Given the description of an element on the screen output the (x, y) to click on. 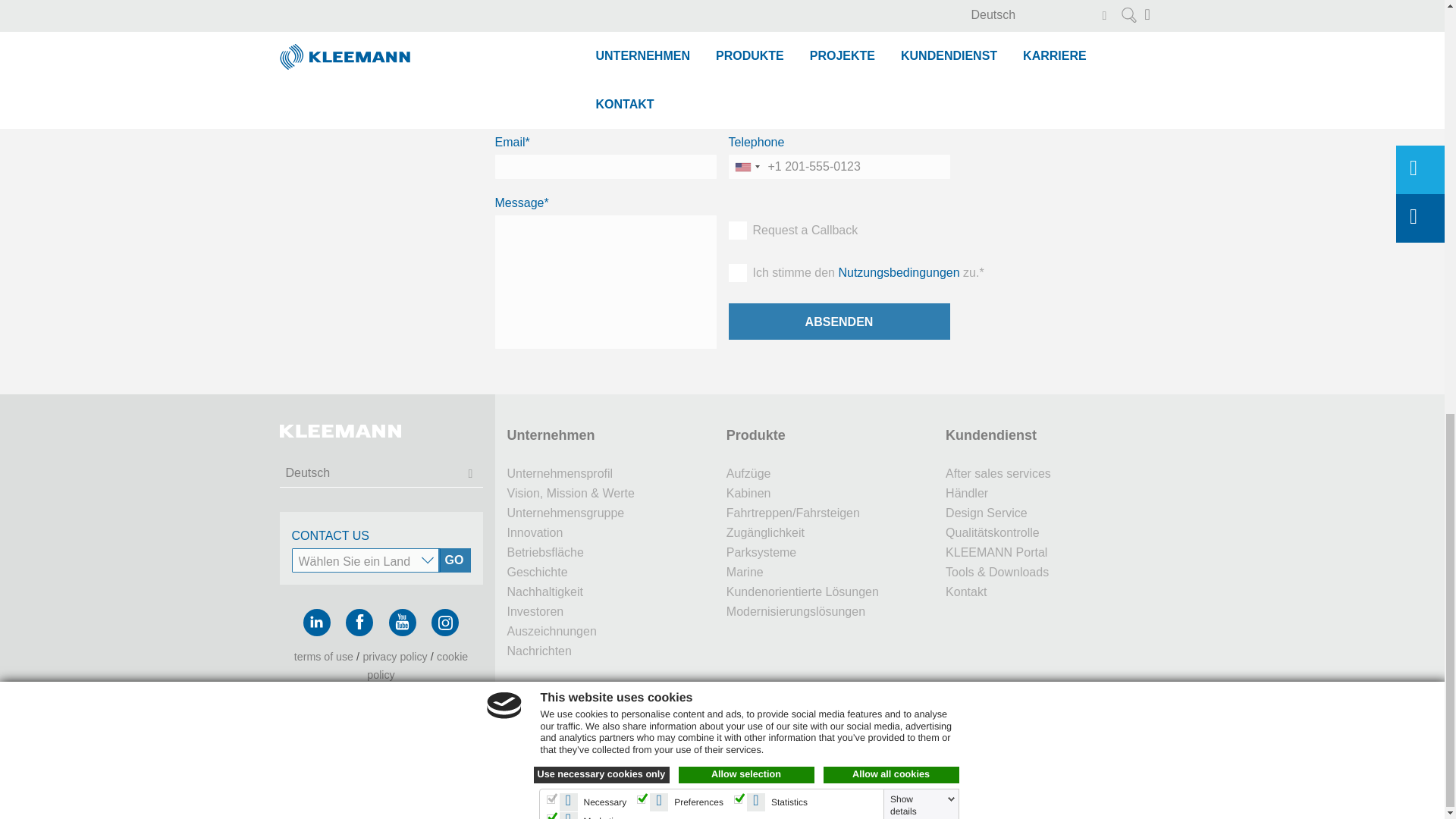
Absenden (838, 321)
GO (454, 559)
